Given the description of an element on the screen output the (x, y) to click on. 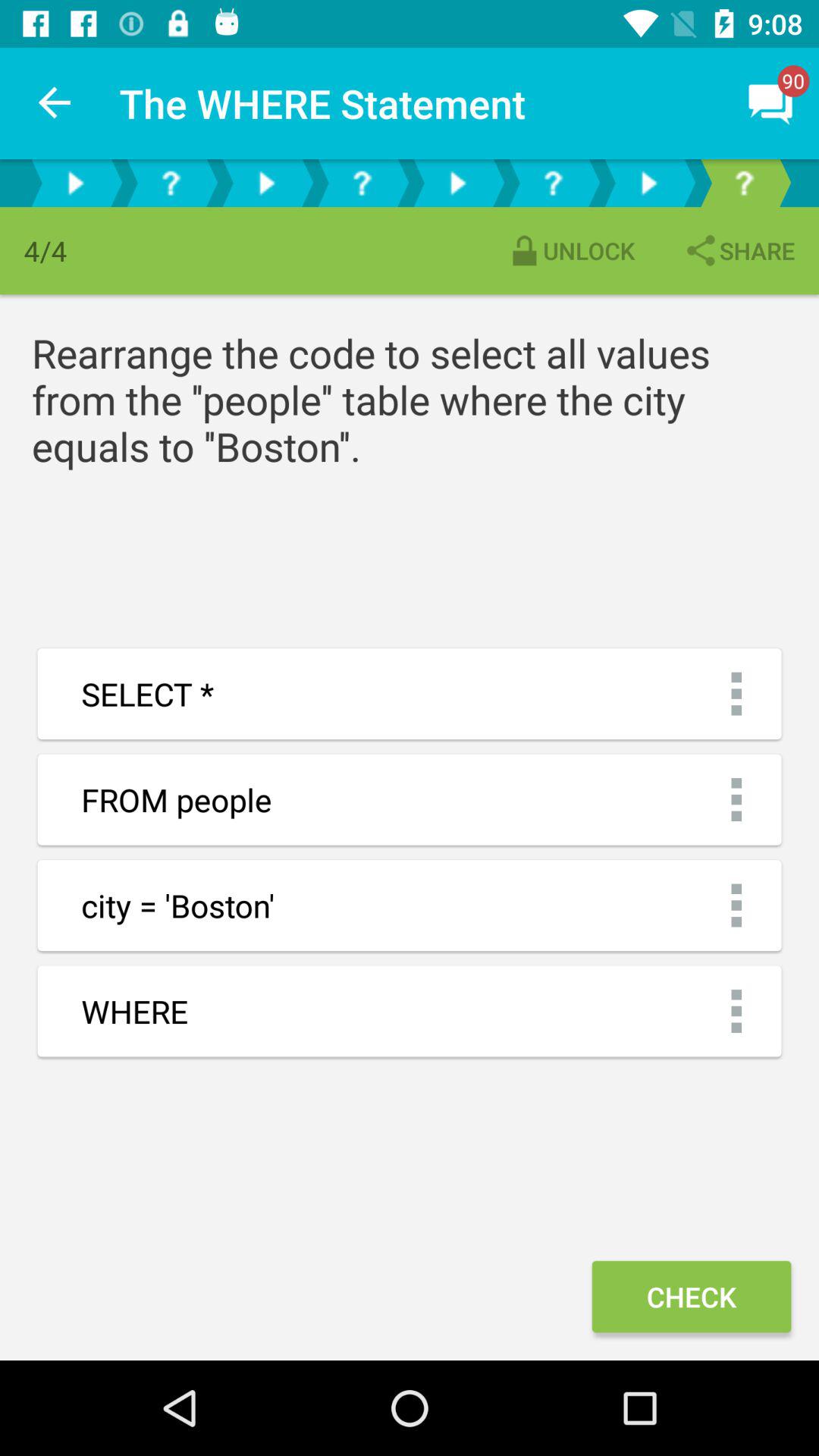
go to previou (265, 183)
